Given the description of an element on the screen output the (x, y) to click on. 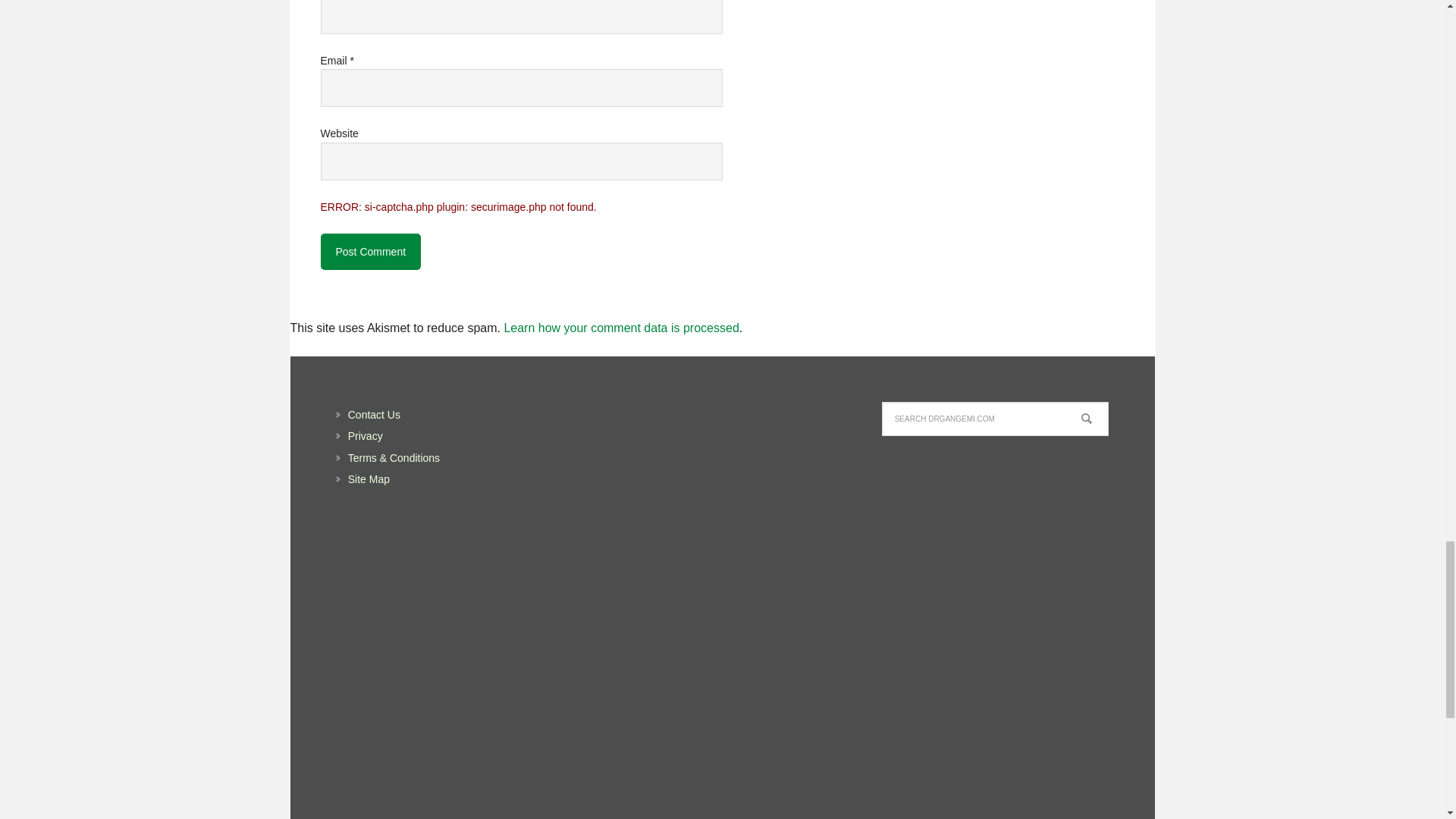
Post Comment (370, 251)
